Given the description of an element on the screen output the (x, y) to click on. 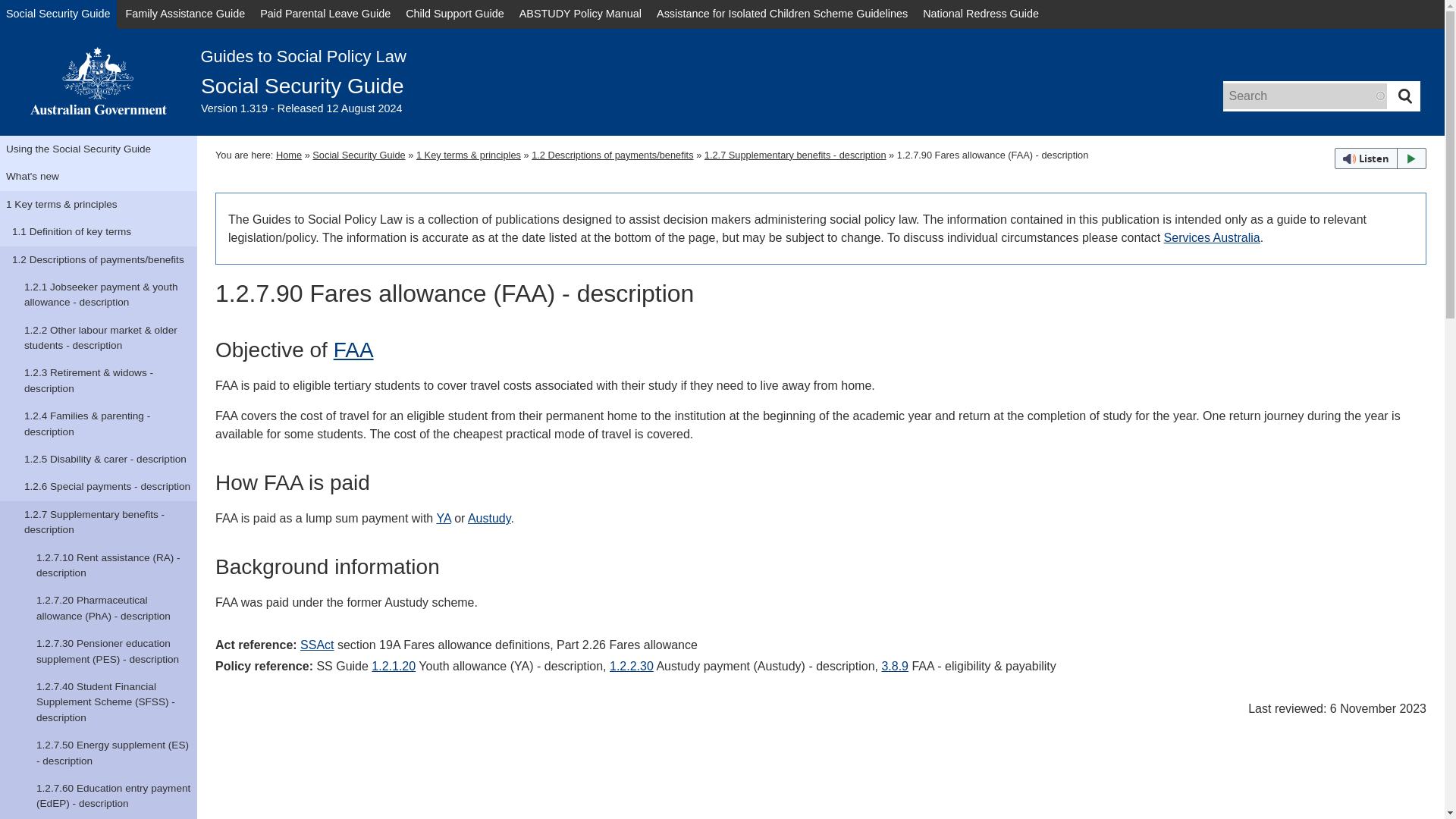
Child Support Guide (454, 14)
Title and menu link title updated (98, 651)
1.2.7 Supplementary benefits - description (98, 522)
1.2.6 Special payments - description (98, 486)
ABSTUDY Policy Manual (580, 14)
Search (1405, 96)
Using the Social Security Guide (98, 148)
Listen (1380, 158)
What's new (98, 176)
Assistance for Isolated Children Scheme Guidelines (782, 14)
